Given the description of an element on the screen output the (x, y) to click on. 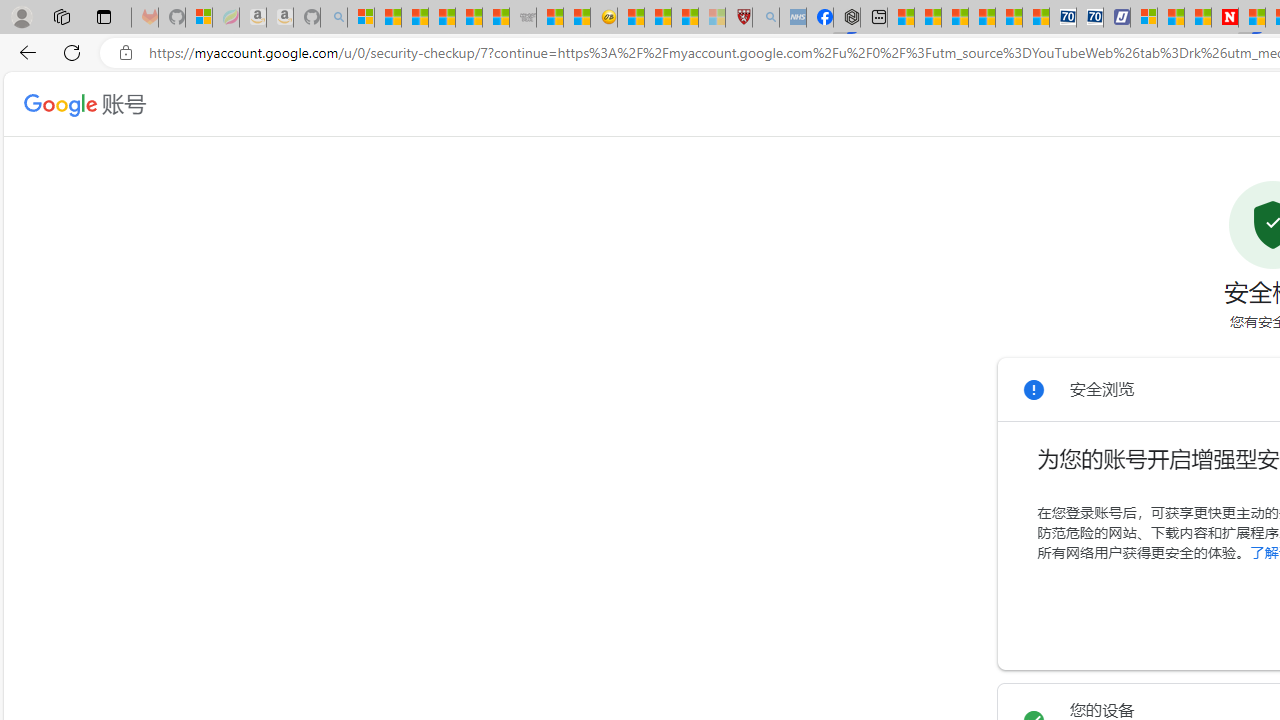
12 Popular Science Lies that Must be Corrected - Sleeping (711, 17)
Newsweek - News, Analysis, Politics, Business, Technology (1224, 17)
